Given the description of an element on the screen output the (x, y) to click on. 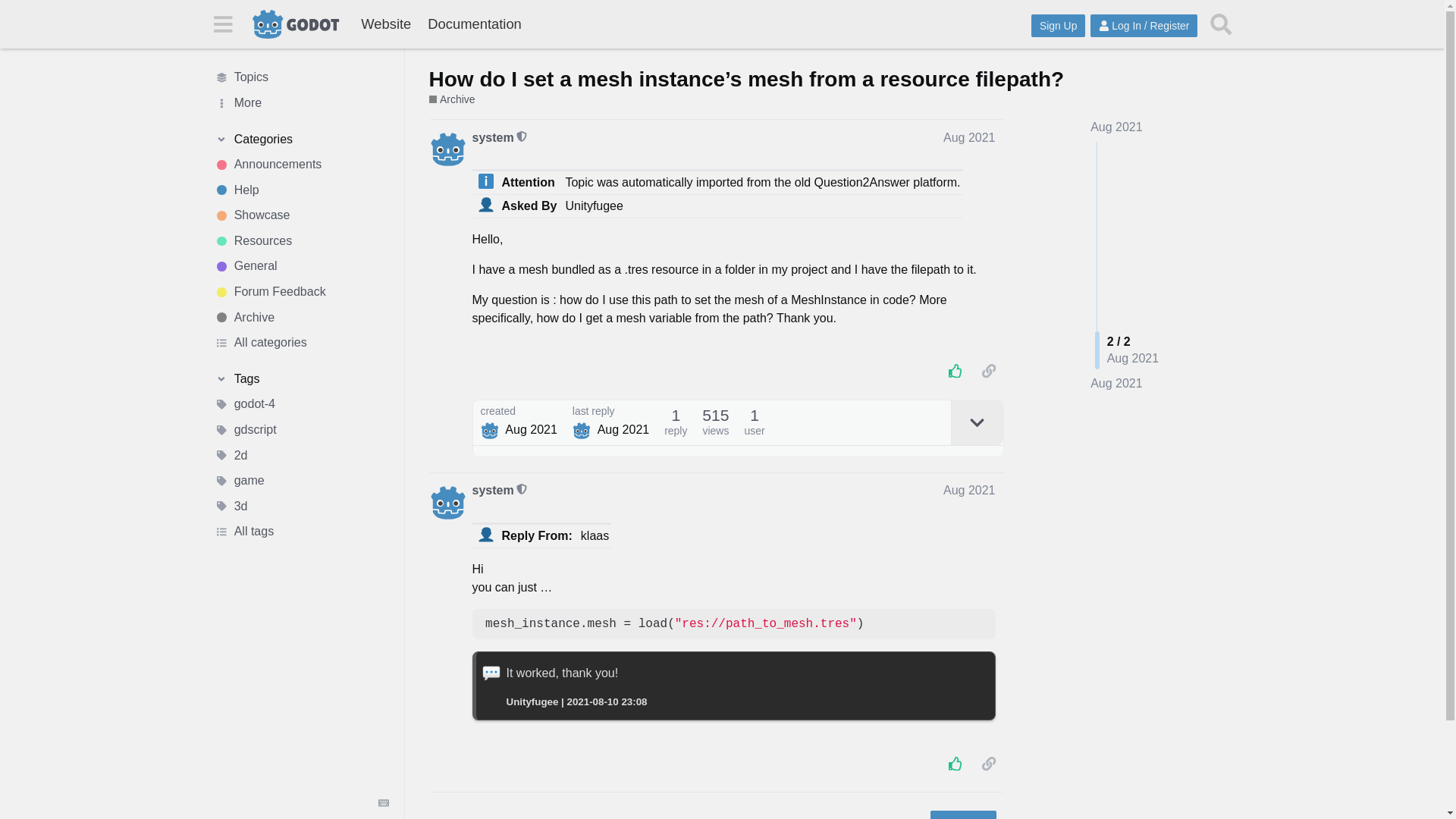
Website (385, 23)
Showcase (301, 216)
3d (301, 506)
Aug 2021 (1116, 383)
godot-4 (301, 404)
Sign Up (1057, 25)
Topics (301, 77)
Sidebar (222, 23)
Forum Feedback (301, 291)
Search (1220, 23)
Official blog posts and other Godot announcements. (301, 164)
Toggle section (301, 139)
More (301, 103)
Archive (452, 99)
